Given the description of an element on the screen output the (x, y) to click on. 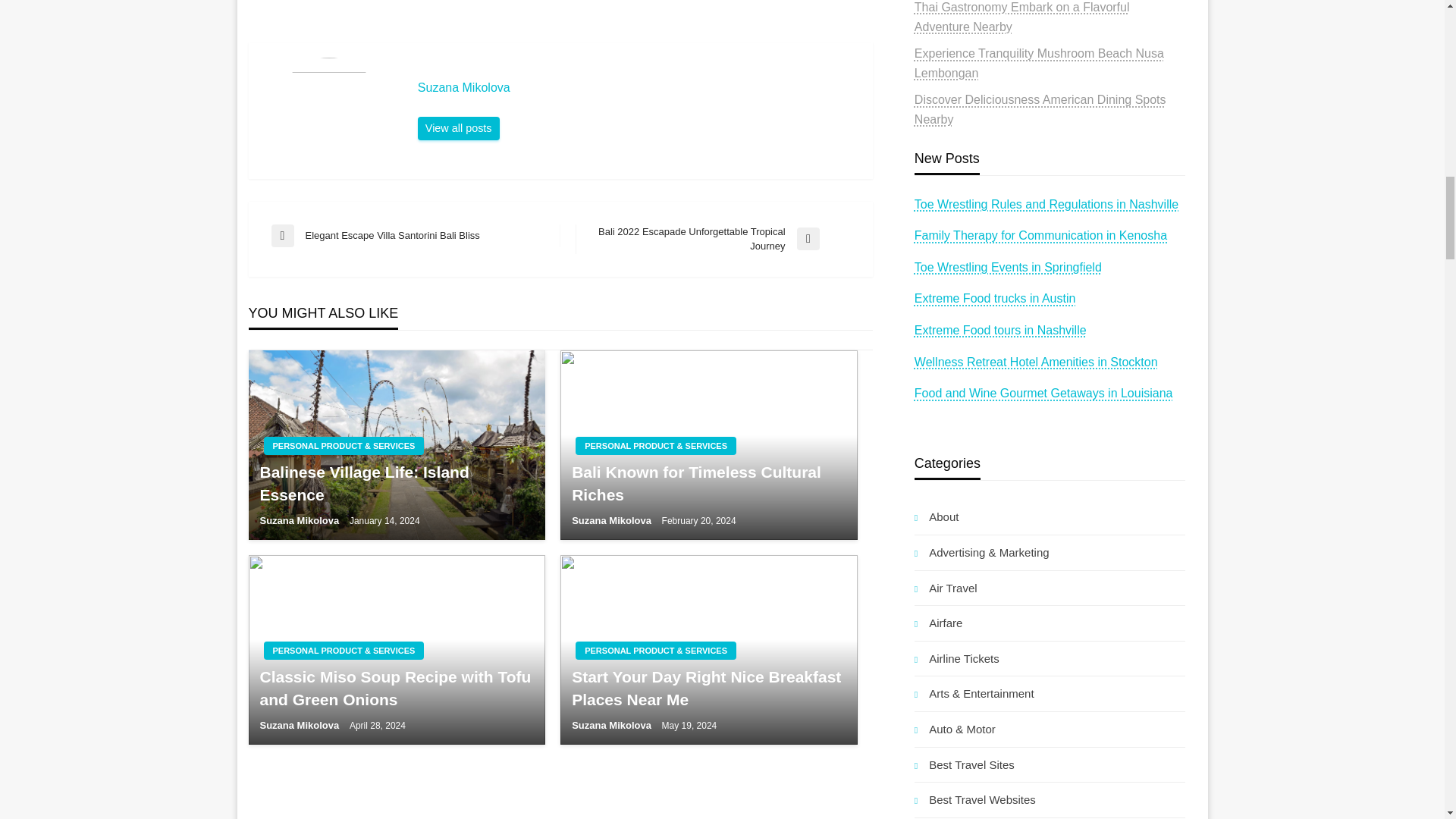
Suzana Mikolova (637, 87)
Suzana Mikolova (458, 128)
